Given the description of an element on the screen output the (x, y) to click on. 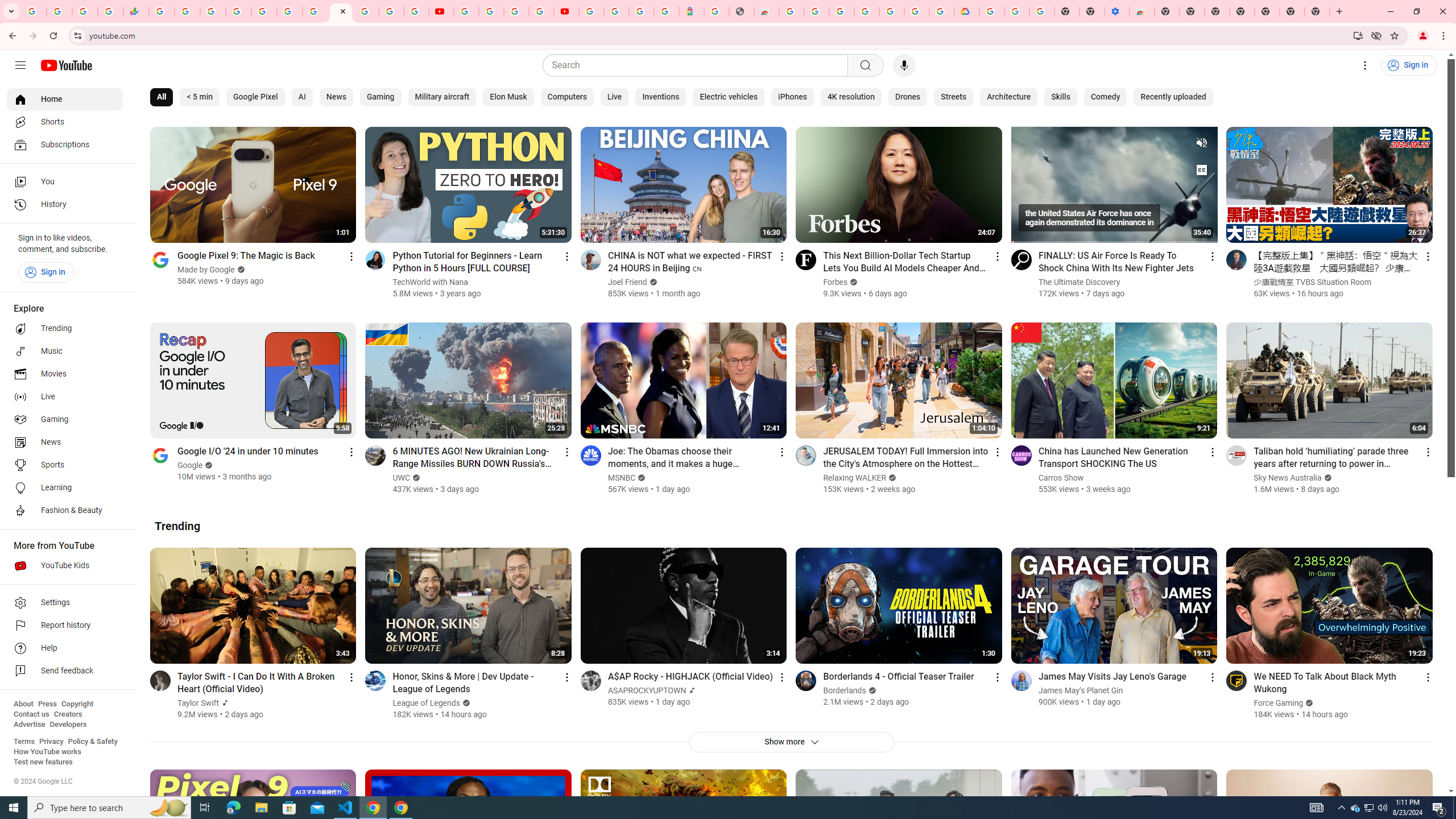
YouTube Home (66, 65)
YouTube (440, 11)
Borderlands (844, 690)
Live (64, 396)
Movies (64, 373)
YouTube (340, 11)
Fashion & Beauty (64, 510)
Recently uploaded (1173, 97)
Android TV Policies and Guidelines - Transparency Center (315, 11)
